Given the description of an element on the screen output the (x, y) to click on. 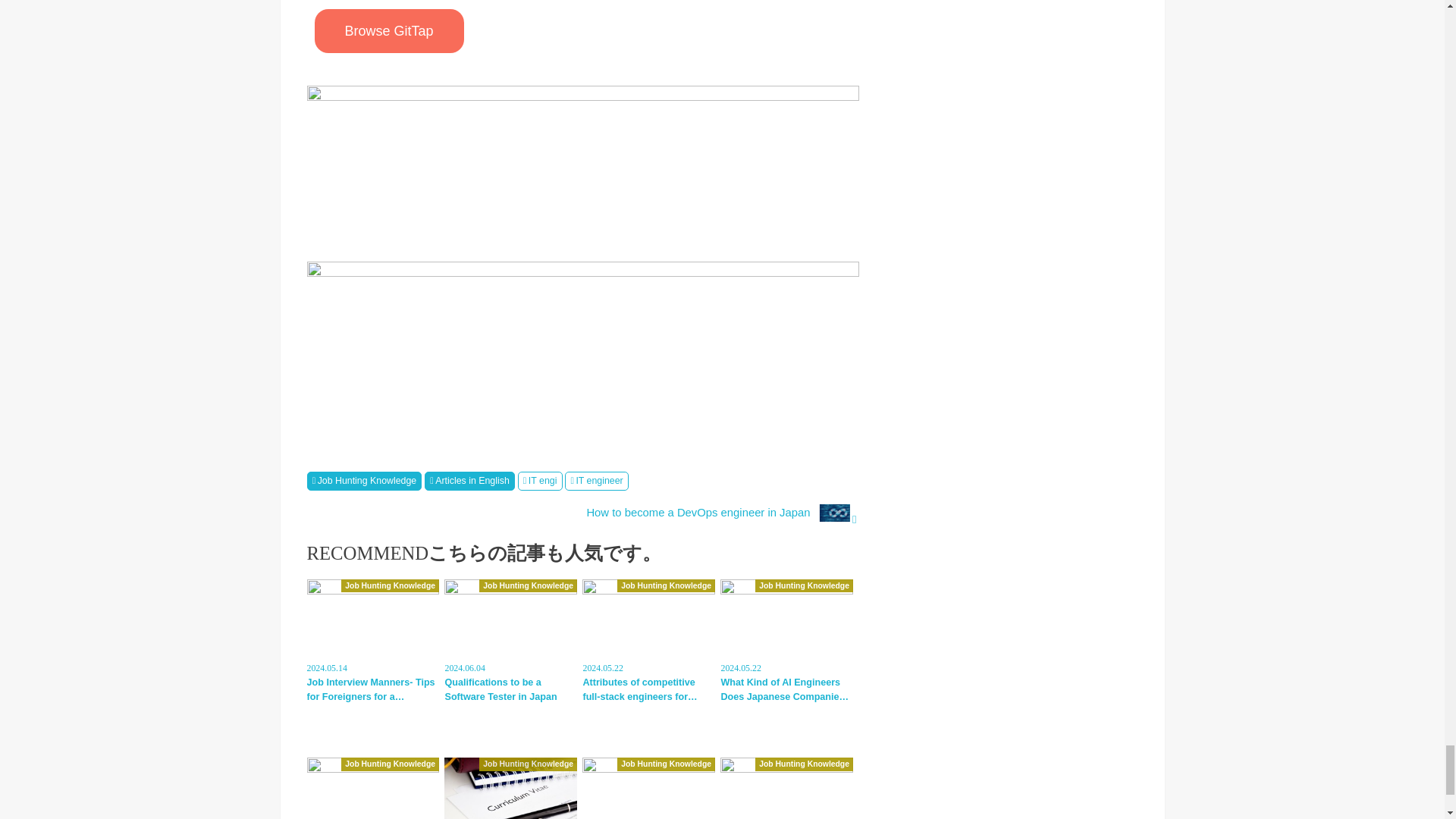
Let's Learn Easily About Japanese IT Industry Structure! (372, 788)
Qualifications to be a Software Tester in Japan (510, 641)
What Kind of AI Engineers Does Japanese Companies Want? (786, 641)
Common Japanese Job Interview Questions and Best Answers! (648, 788)
Common Japanese Job Interview Questions and Best Answers! (648, 788)
Let's Learn Easily About Japanese IT Industry Structure! (372, 788)
